Given the description of an element on the screen output the (x, y) to click on. 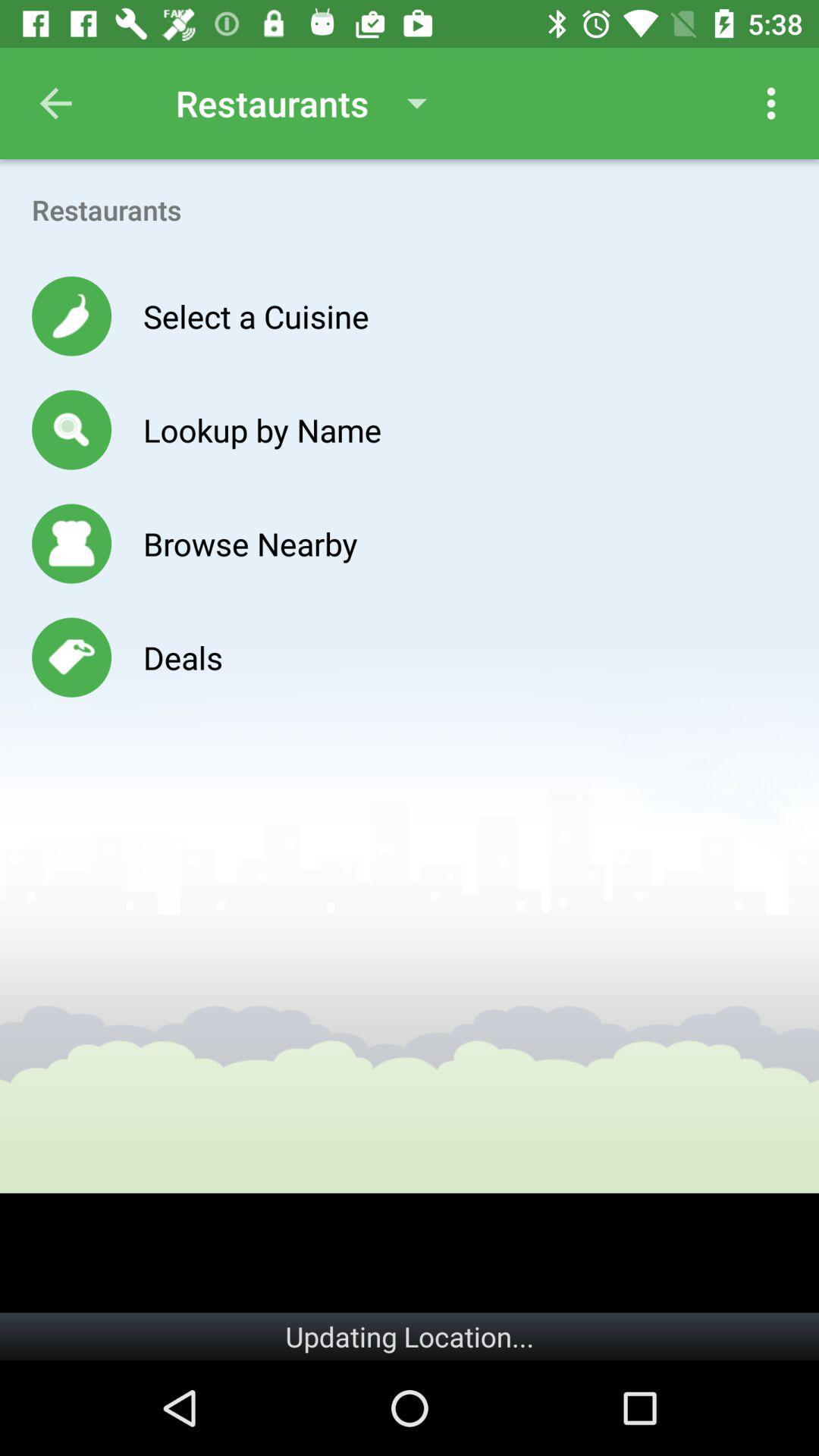
turn off the icon to the left of restaurants icon (55, 103)
